Given the description of an element on the screen output the (x, y) to click on. 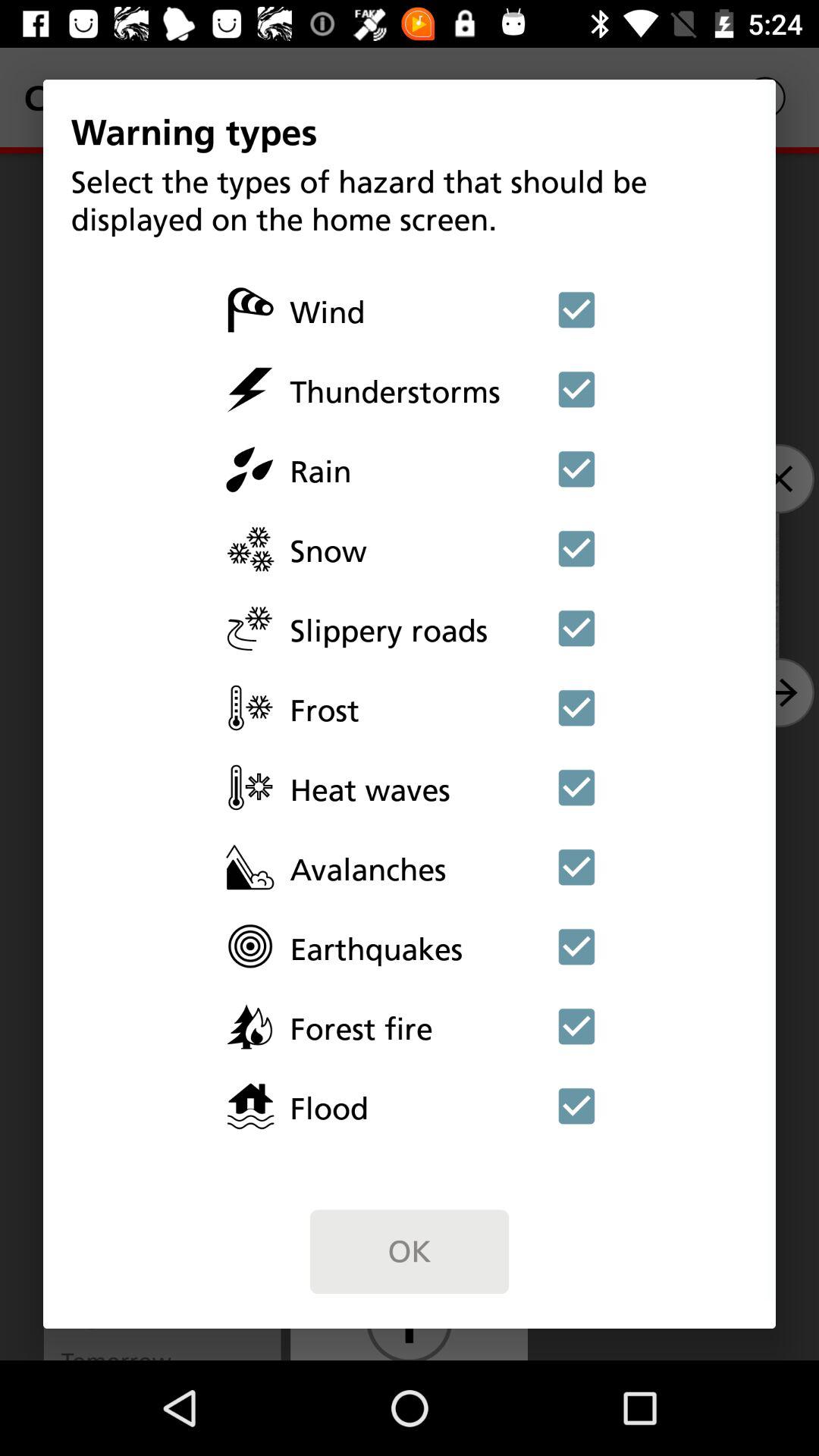
activate selected (576, 707)
